Given the description of an element on the screen output the (x, y) to click on. 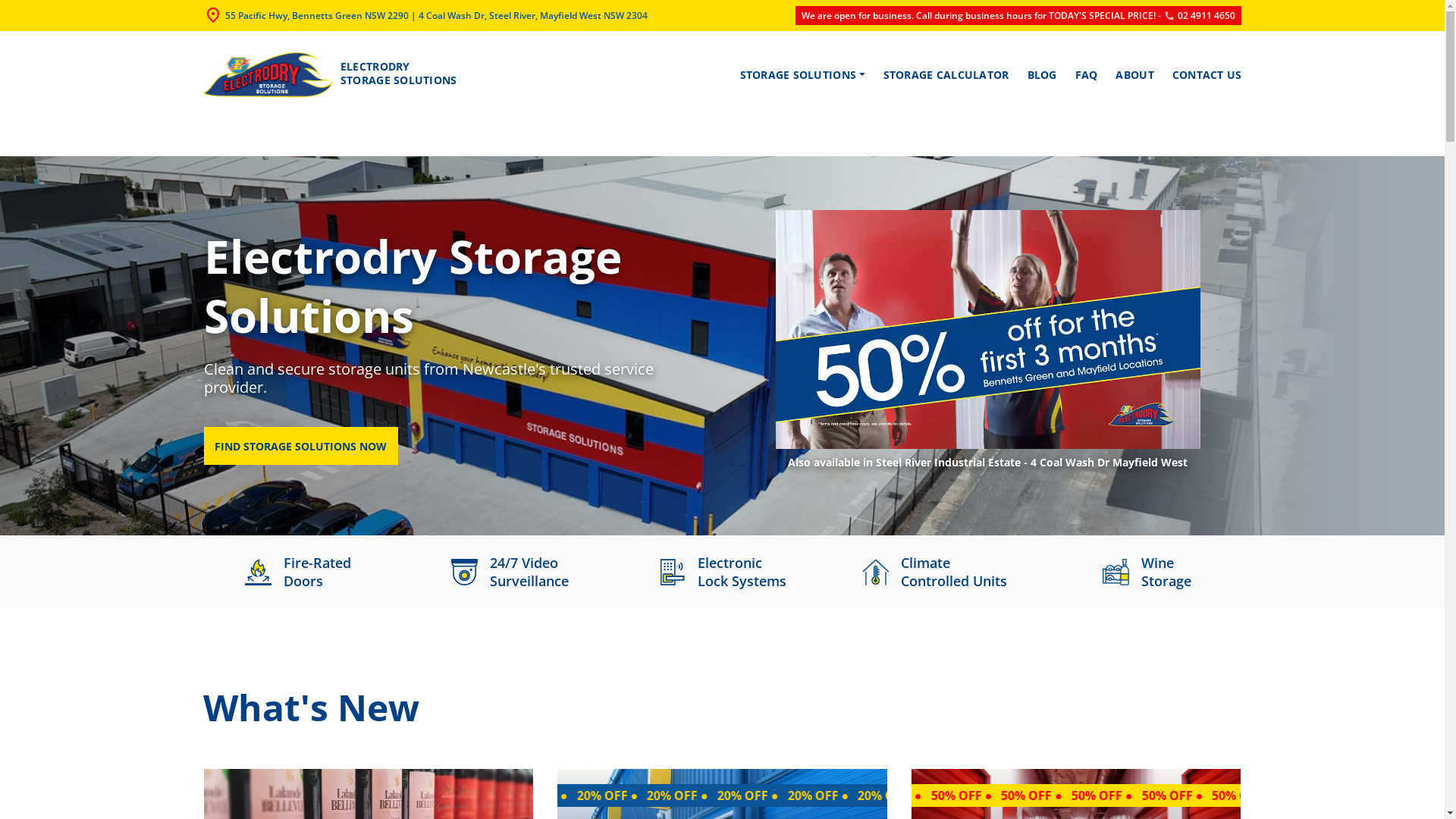
55 Pacific Hwy, Bennetts Green NSW 2290 Element type: text (315, 15)
4 Coal Wash Dr, Steel River, Mayfield West NSW 2304 Element type: text (532, 15)
ABOUT Element type: text (1134, 74)
STORAGE SOLUTIONS Element type: text (802, 74)
CONTACT US Element type: text (1202, 74)
FIND STORAGE SOLUTIONS NOW Element type: text (300, 445)
STORAGE CALCULATOR Element type: text (946, 74)
BLOG Element type: text (1042, 74)
FAQ Element type: text (1086, 74)
